Given the description of an element on the screen output the (x, y) to click on. 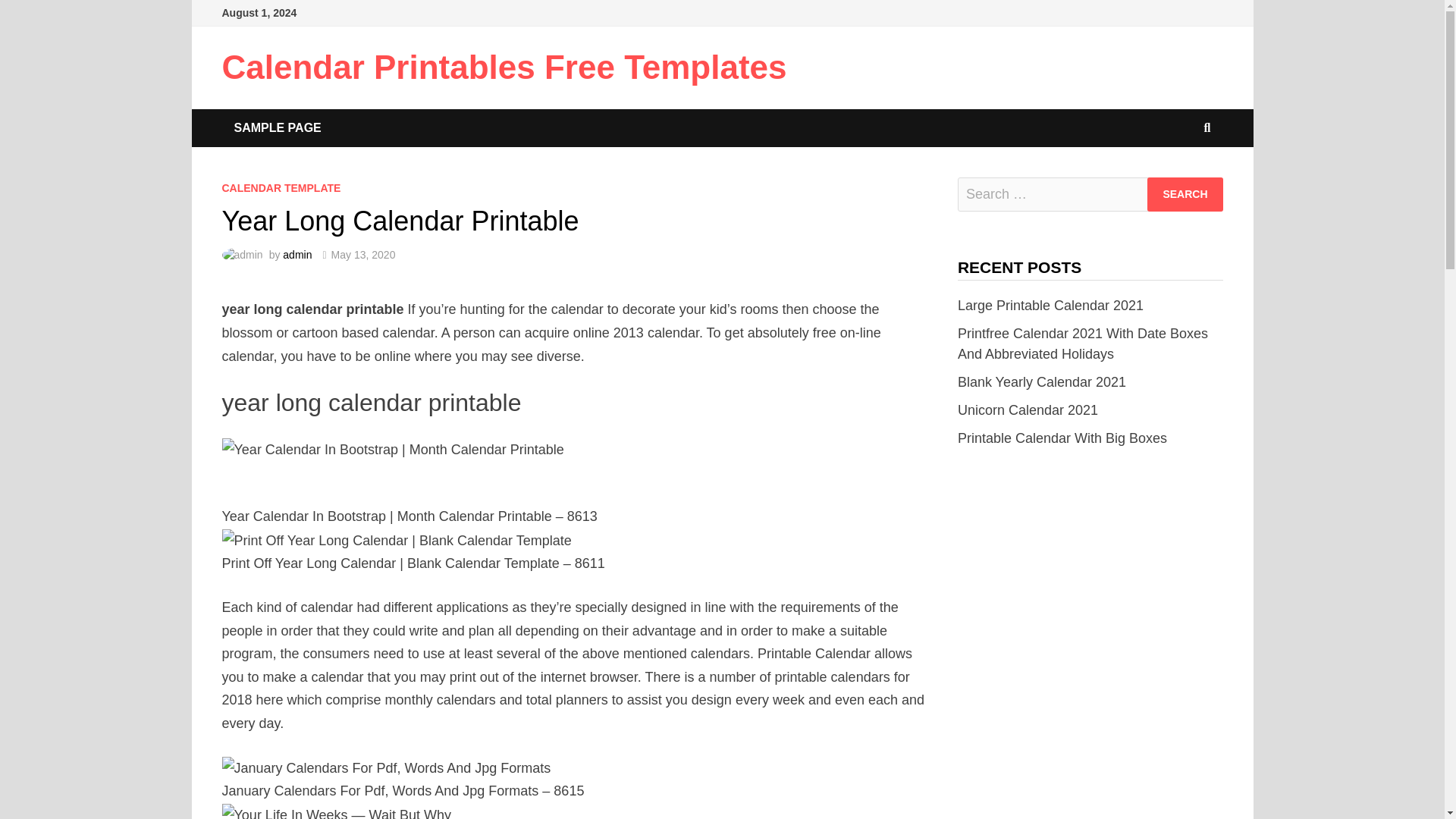
Search (1185, 194)
Printable Calendar With Big Boxes (1062, 437)
CALENDAR TEMPLATE (280, 187)
SAMPLE PAGE (277, 127)
admin (296, 254)
Blank Yearly Calendar 2021 (1041, 381)
Search (1185, 194)
Calendar Printables Free Templates (503, 66)
Unicorn Calendar 2021 (1027, 409)
Large Printable Calendar 2021 (1050, 305)
Search (1185, 194)
January Calendars For Pdf, Words And Jpg Formats (385, 768)
May 13, 2020 (363, 254)
